Given the description of an element on the screen output the (x, y) to click on. 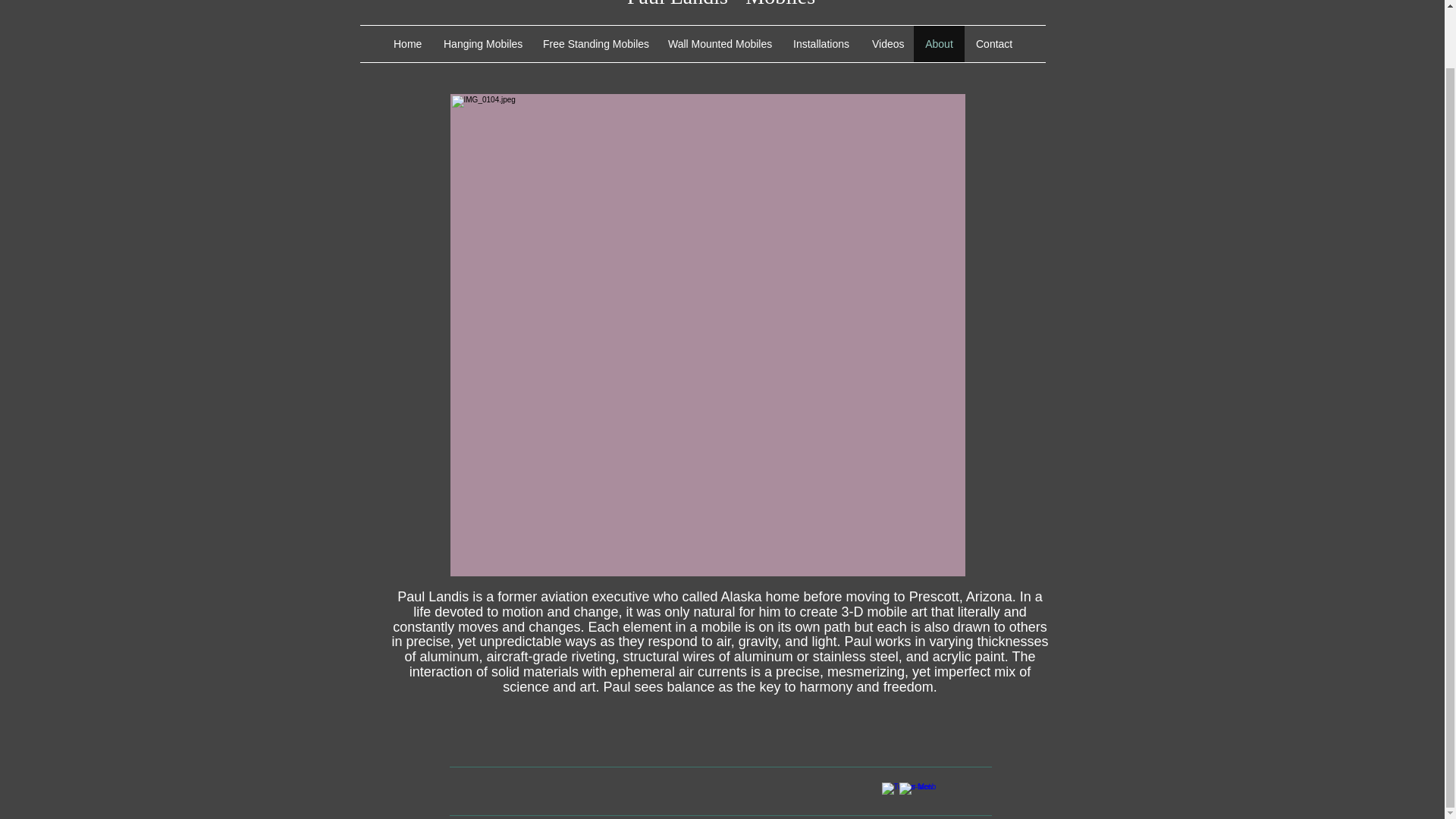
Hanging Mobiles (481, 43)
Wall Mounted Mobiles (718, 43)
Free Standing Mobiles (593, 43)
Home (406, 43)
Videos (887, 43)
Installations (820, 43)
About (938, 43)
Contact (993, 43)
